Given the description of an element on the screen output the (x, y) to click on. 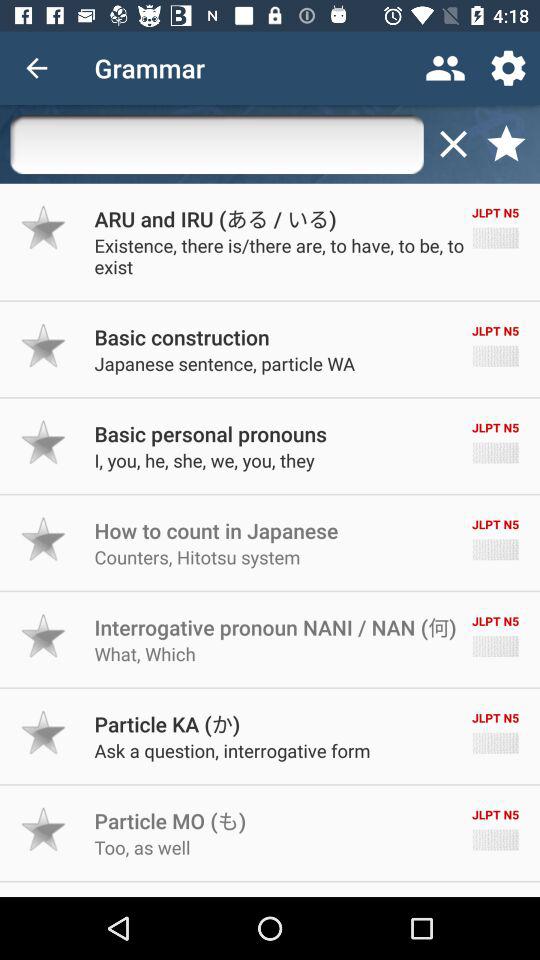
swipe to the interrogative pronoun nani item (275, 627)
